Given the description of an element on the screen output the (x, y) to click on. 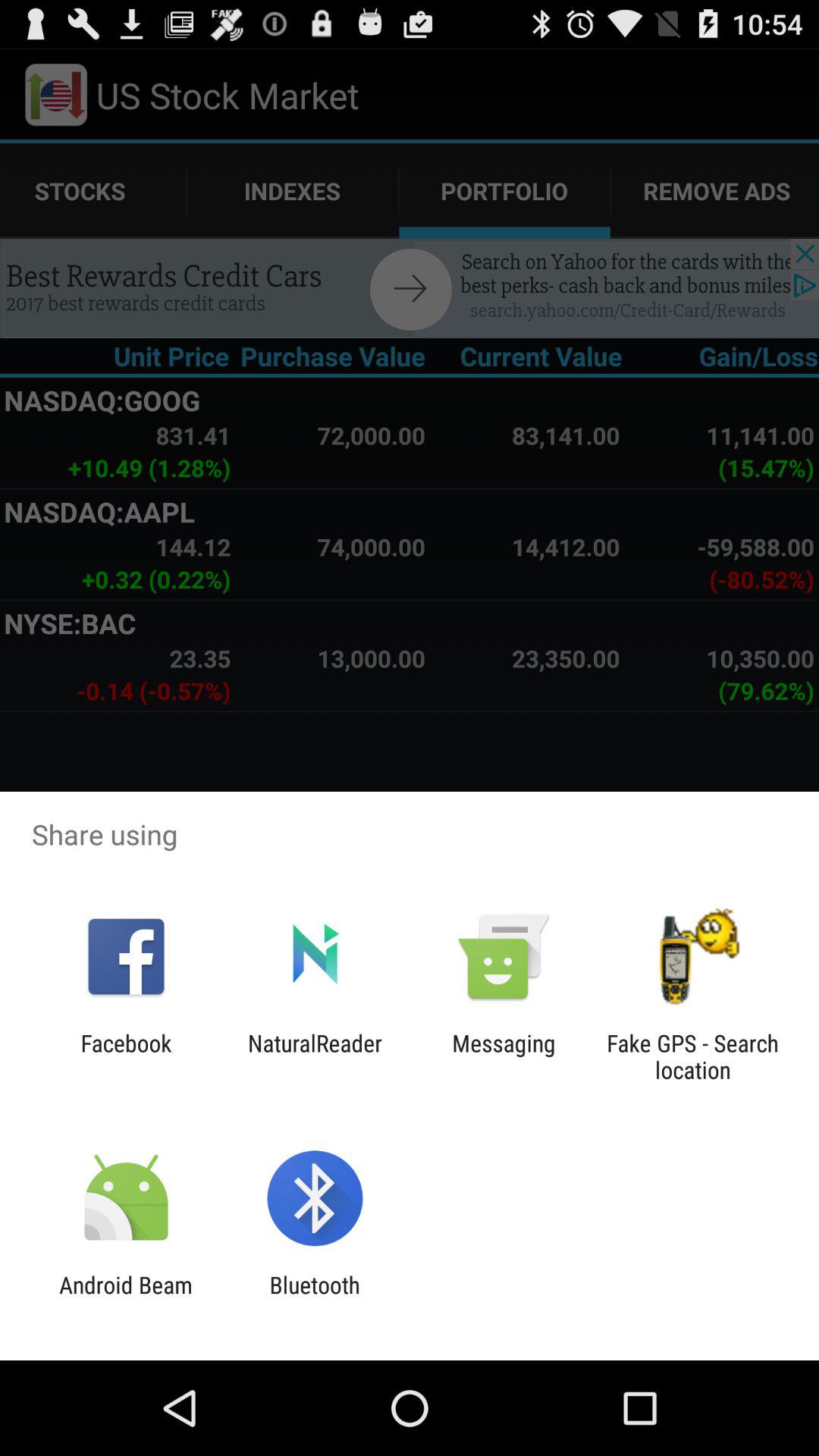
click the icon at the bottom right corner (692, 1056)
